Given the description of an element on the screen output the (x, y) to click on. 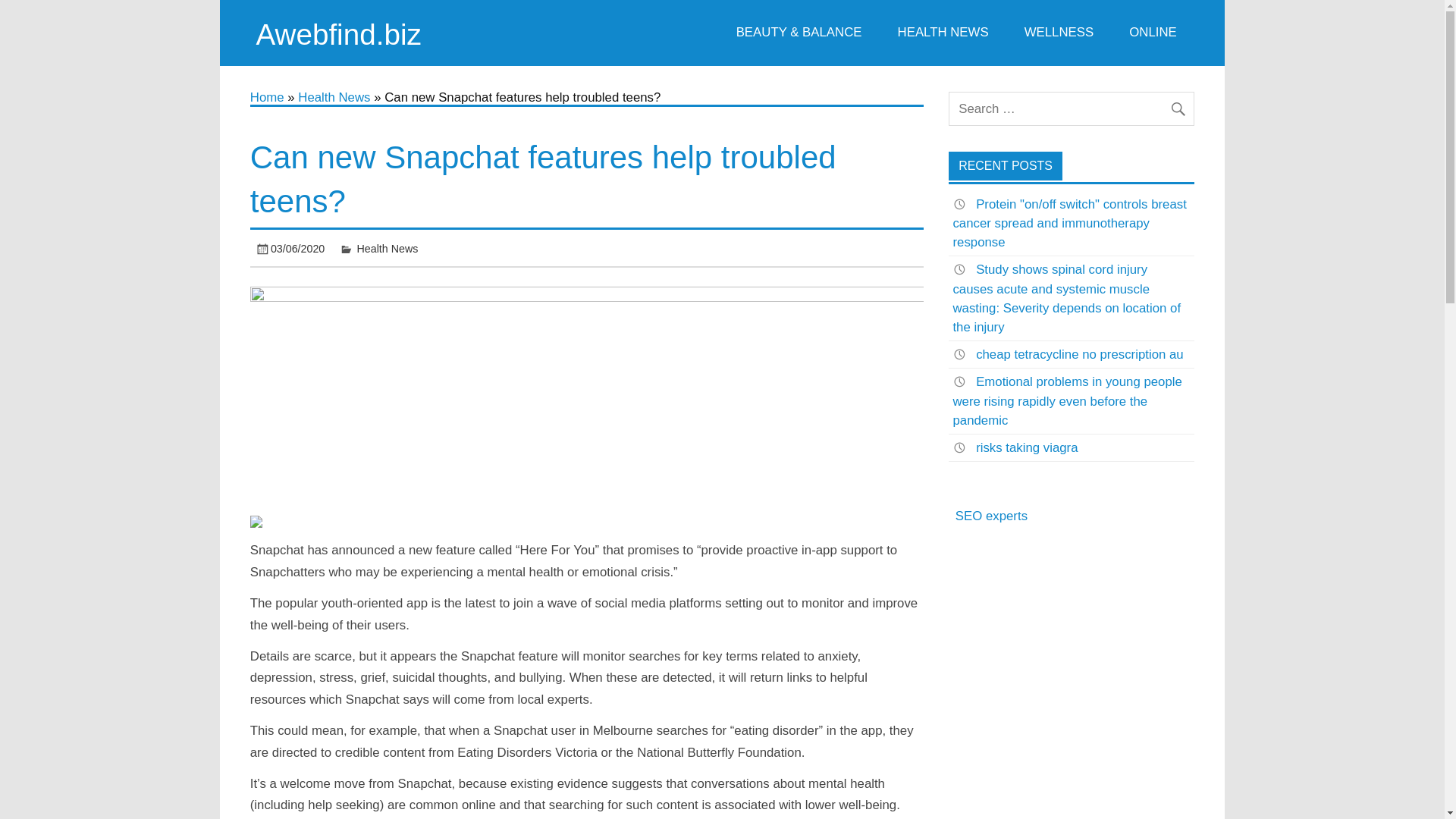
cheap tetracycline no prescription au (1079, 354)
Awebfind.biz (338, 34)
Health News (387, 248)
risks taking viagra (1026, 447)
WELLNESS (1059, 33)
SEO experts (991, 515)
Health News (333, 97)
Home (266, 97)
